Given the description of an element on the screen output the (x, y) to click on. 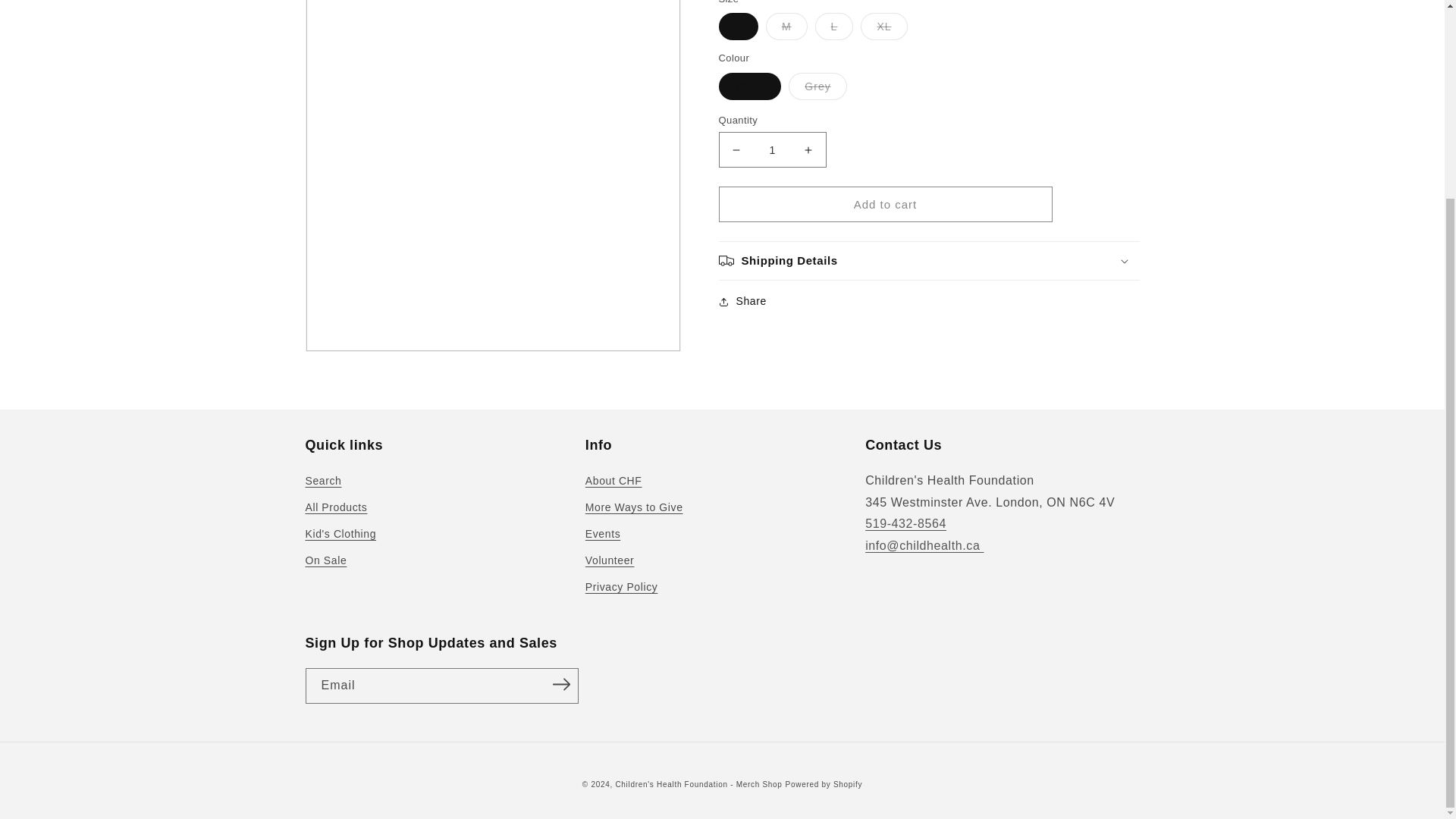
1 (773, 149)
Increase quantity for YOUTH BCMH Repeater Crewneck (808, 149)
Search (322, 482)
Add to cart (885, 203)
tel:5194328564 (905, 522)
Decrease quantity for YOUTH BCMH Repeater Crewneck (735, 149)
